Given the description of an element on the screen output the (x, y) to click on. 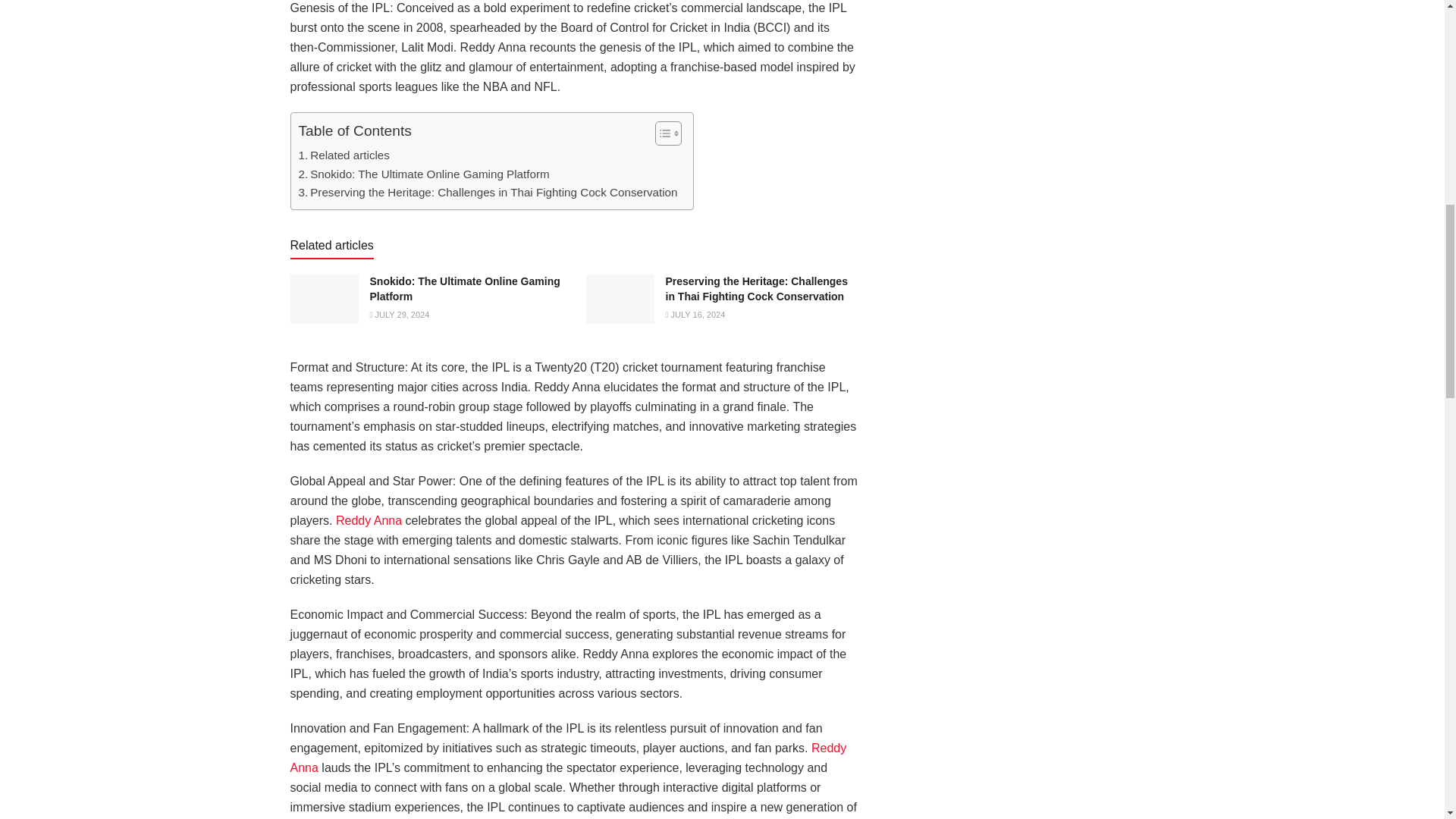
Related articles (344, 155)
